Given the description of an element on the screen output the (x, y) to click on. 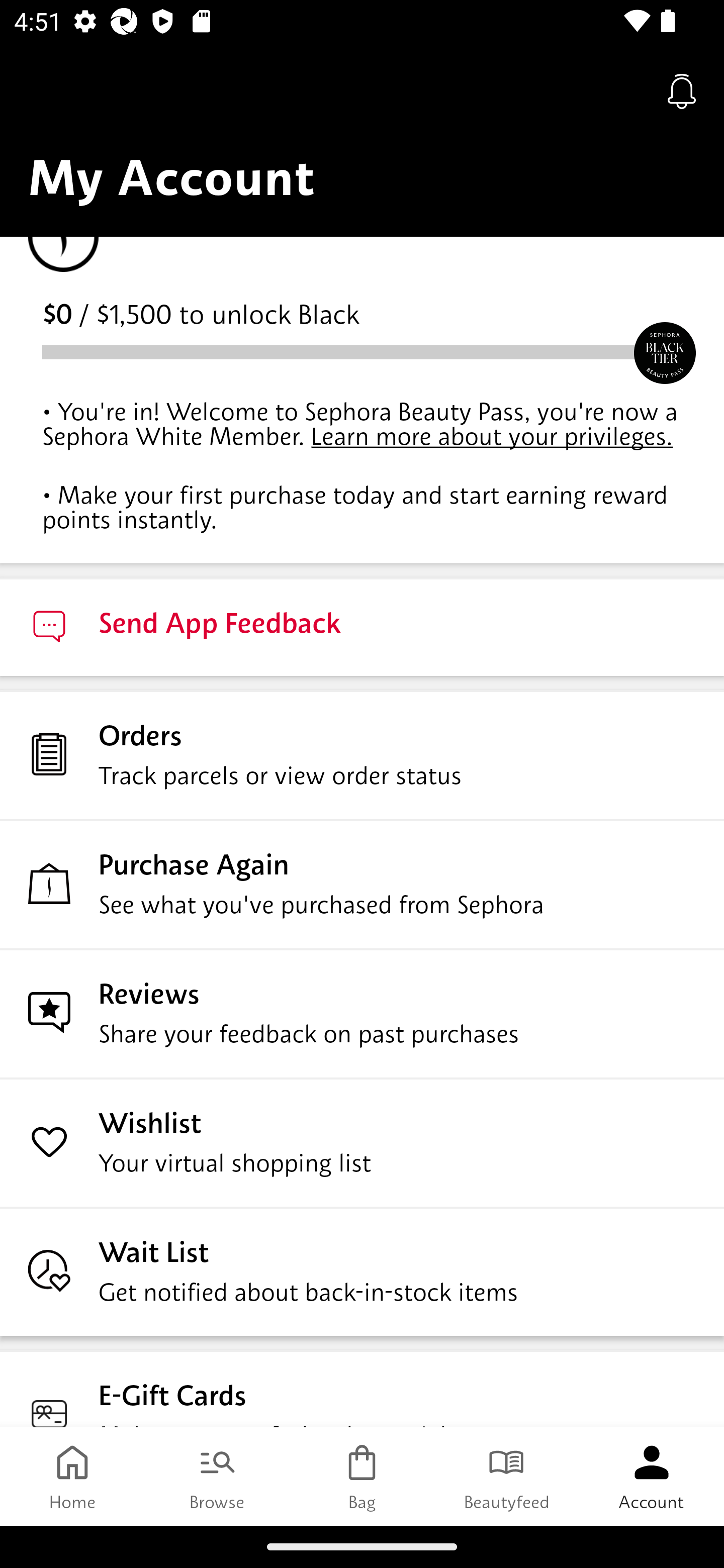
Notifications (681, 90)
Send App Feedback (362, 626)
Orders Track parcels or view order status (362, 753)
Reviews Share your feedback on past purchases (362, 1012)
Wishlist Your virtual shopping list (362, 1142)
Wait List Get notified about back-in-stock items (362, 1271)
E-Gift Cards Make someone feel truly special (362, 1388)
Home (72, 1475)
Browse (216, 1475)
Bag (361, 1475)
Beautyfeed (506, 1475)
